Given the description of an element on the screen output the (x, y) to click on. 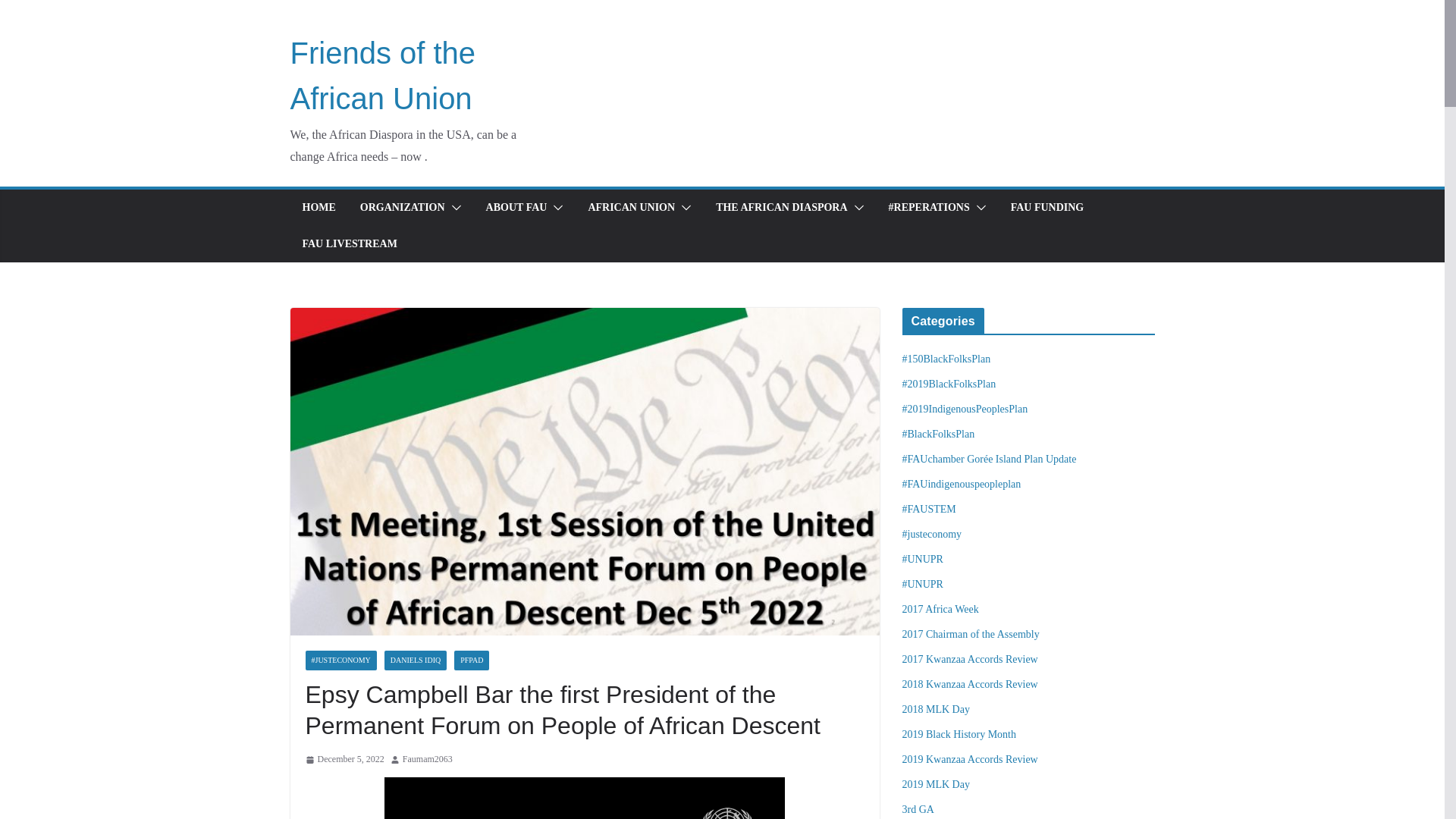
Friends of the African Union (382, 75)
1:00 pm (344, 759)
HOME (317, 207)
Friends of the African Union (382, 75)
ORGANIZATION (402, 207)
Faumam2063 (427, 759)
